Given the description of an element on the screen output the (x, y) to click on. 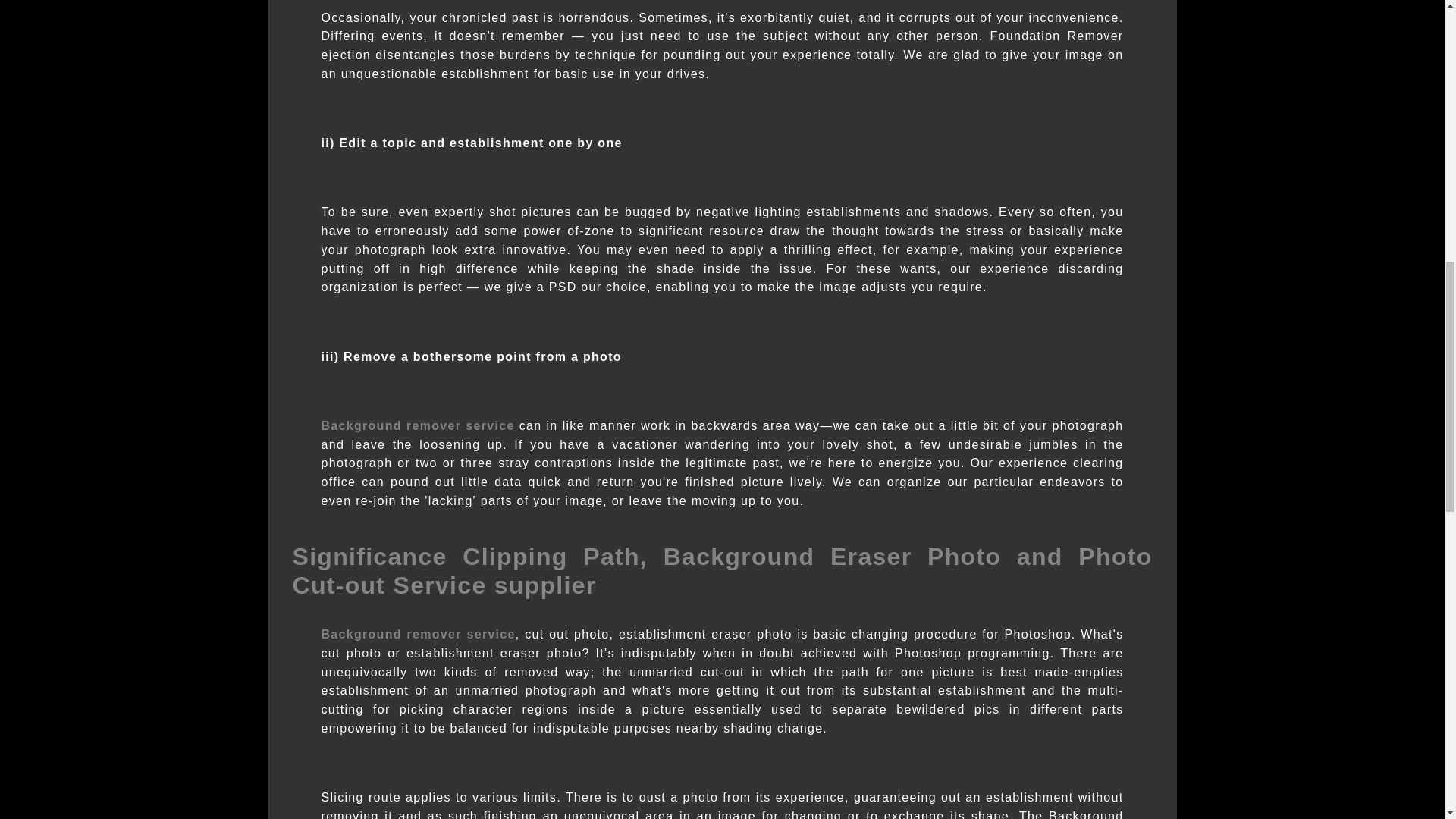
Background remover service (418, 634)
Background remover service (418, 425)
